Given the description of an element on the screen output the (x, y) to click on. 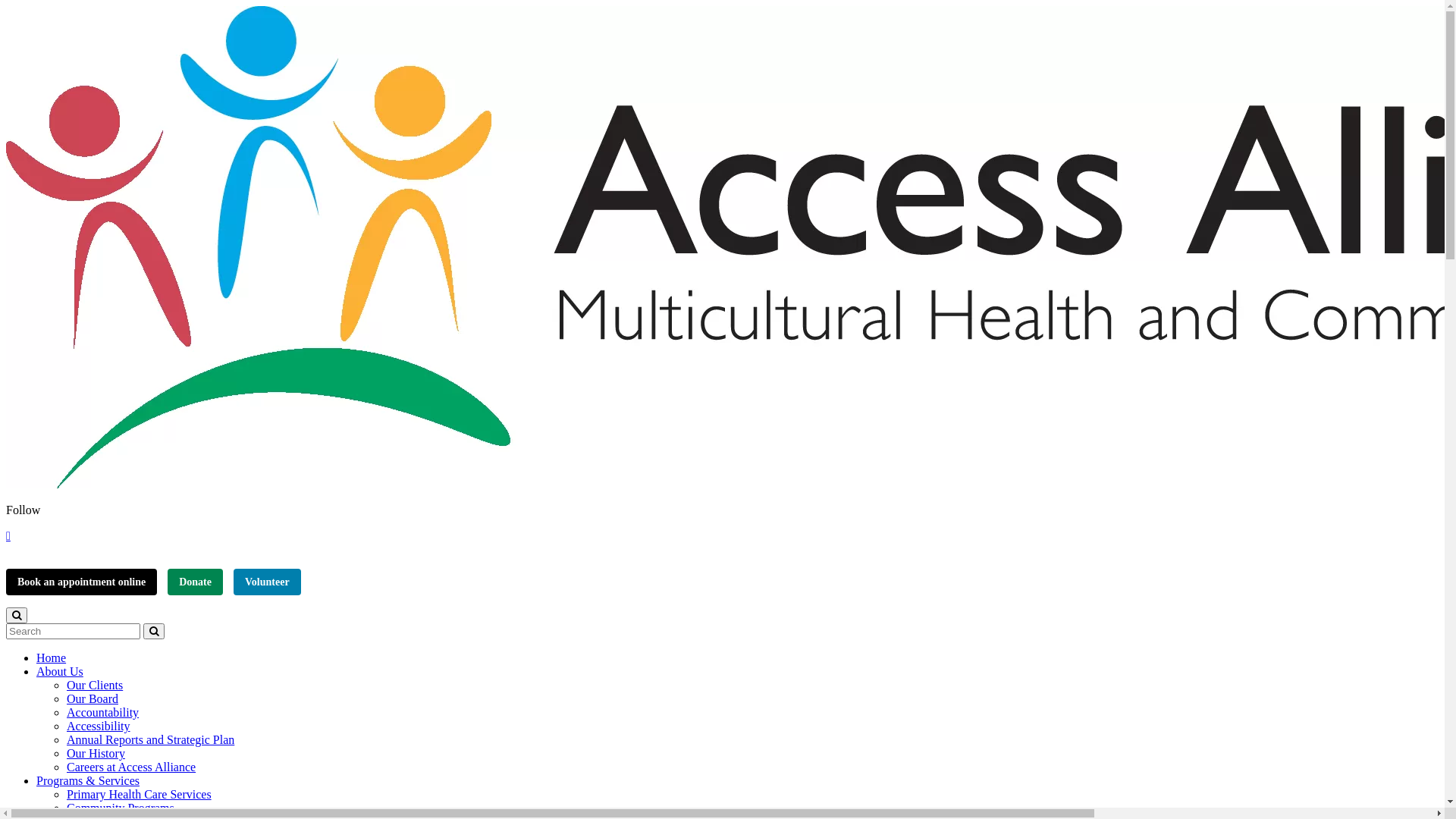
Accessibility Element type: text (98, 725)
Our Clients Element type: text (94, 684)
Annual Reports and Strategic Plan Element type: text (150, 739)
Donate Element type: text (194, 581)
Volunteer Element type: text (267, 581)
Community Programs Element type: text (120, 807)
Programs & Services Element type: text (87, 780)
Our Board Element type: text (92, 698)
Primary Health Care Services Element type: text (138, 793)
Follow us on Facebook Element type: hover (8, 535)
Book an appointment online Element type: text (81, 581)
Careers at Access Alliance Element type: text (130, 766)
About Us Element type: text (59, 671)
Accountability Element type: text (102, 712)
Home Element type: text (50, 657)
Our History Element type: text (95, 752)
